Given the description of an element on the screen output the (x, y) to click on. 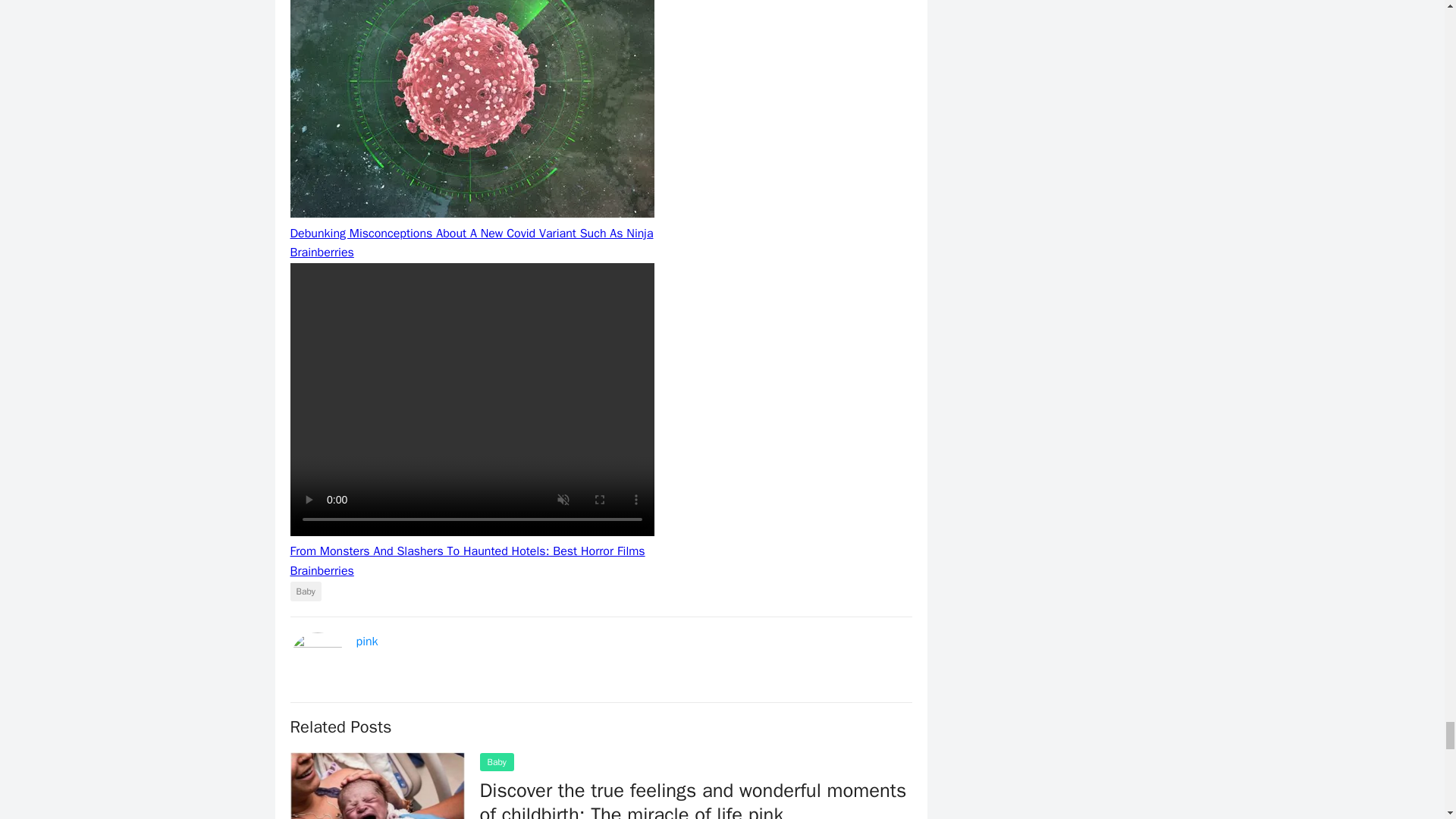
pink (367, 641)
Baby (304, 591)
